Given the description of an element on the screen output the (x, y) to click on. 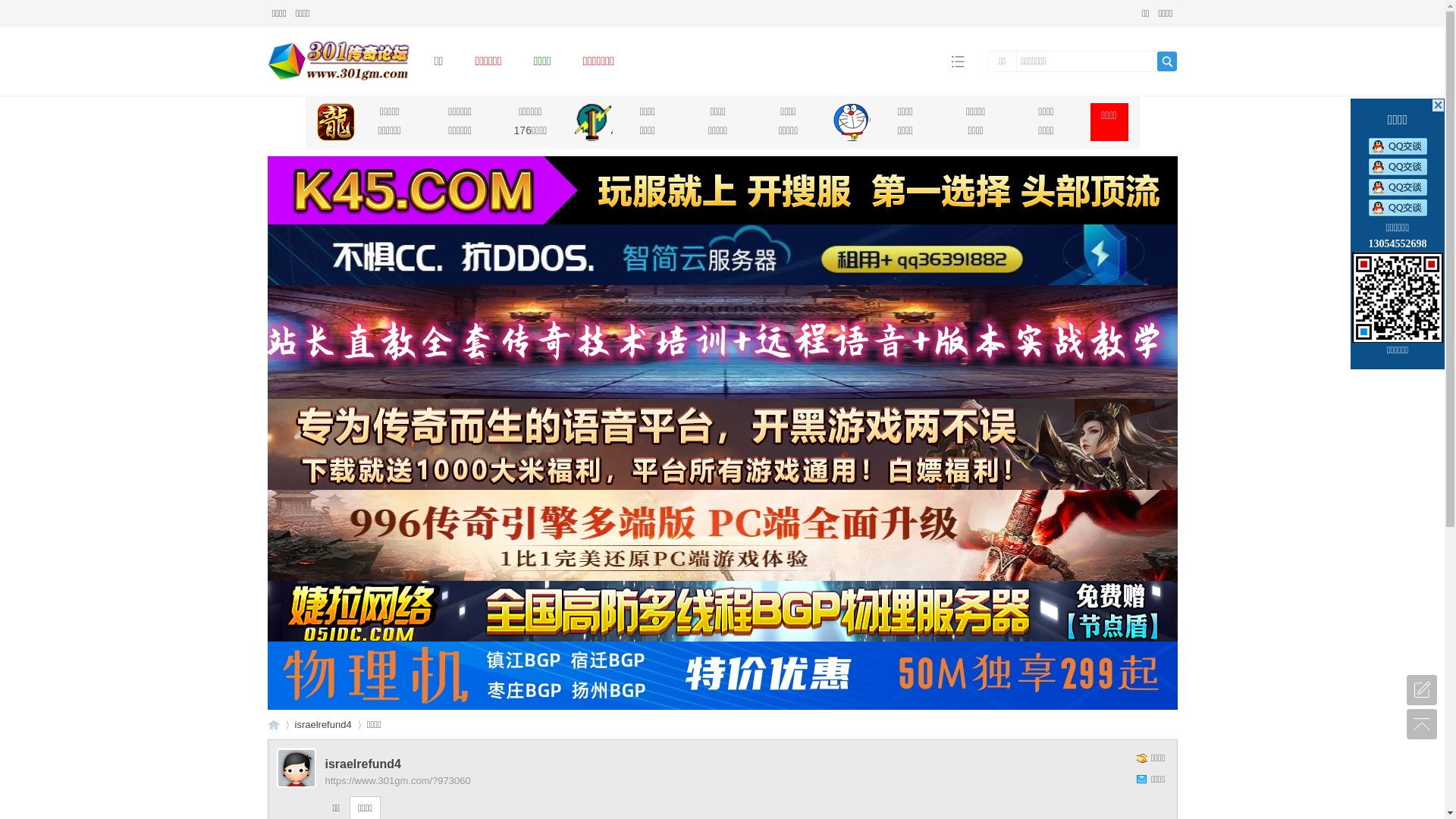
996 Element type: hover (721, 534)
  Element type: text (1437, 105)
123123 Element type: hover (721, 675)
https://www.301gm.com/?973060 Element type: text (397, 780)
israelrefund4 Element type: text (322, 724)
jiaoxue Element type: hover (721, 341)
true Element type: text (1166, 61)
123213 Element type: hover (721, 254)
11 Element type: hover (721, 190)
